Given the description of an element on the screen output the (x, y) to click on. 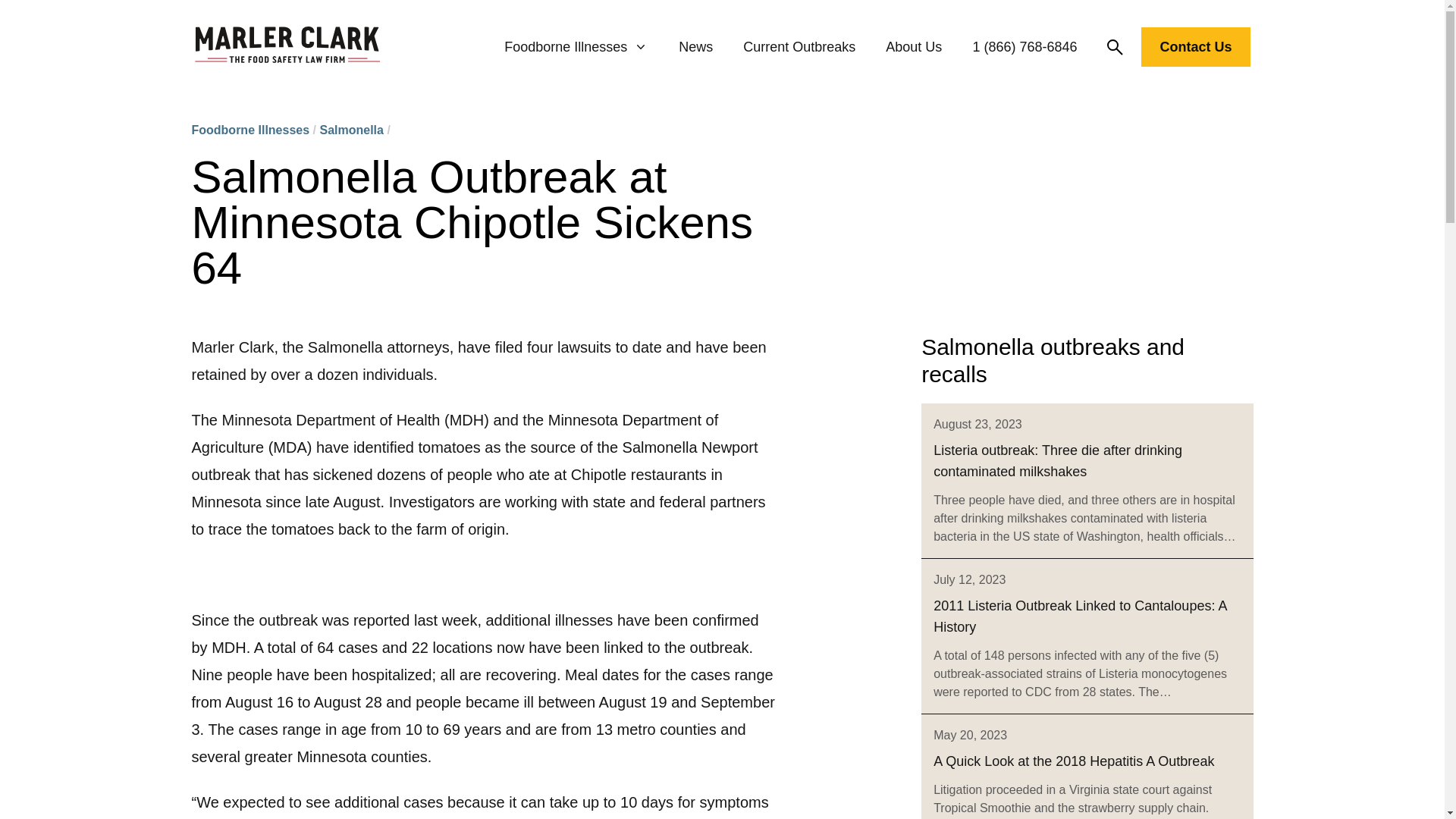
Marler Clark (286, 46)
News (695, 46)
2011 Listeria Outbreak Linked to Cantaloupes: A History (1079, 616)
A Quick Look at the 2018 Hepatitis A Outbreak (1073, 761)
About Us (913, 46)
Salmonella (350, 129)
Contact Us (1195, 46)
Foodborne Illnesses (249, 129)
Contact Us (1195, 49)
